Given the description of an element on the screen output the (x, y) to click on. 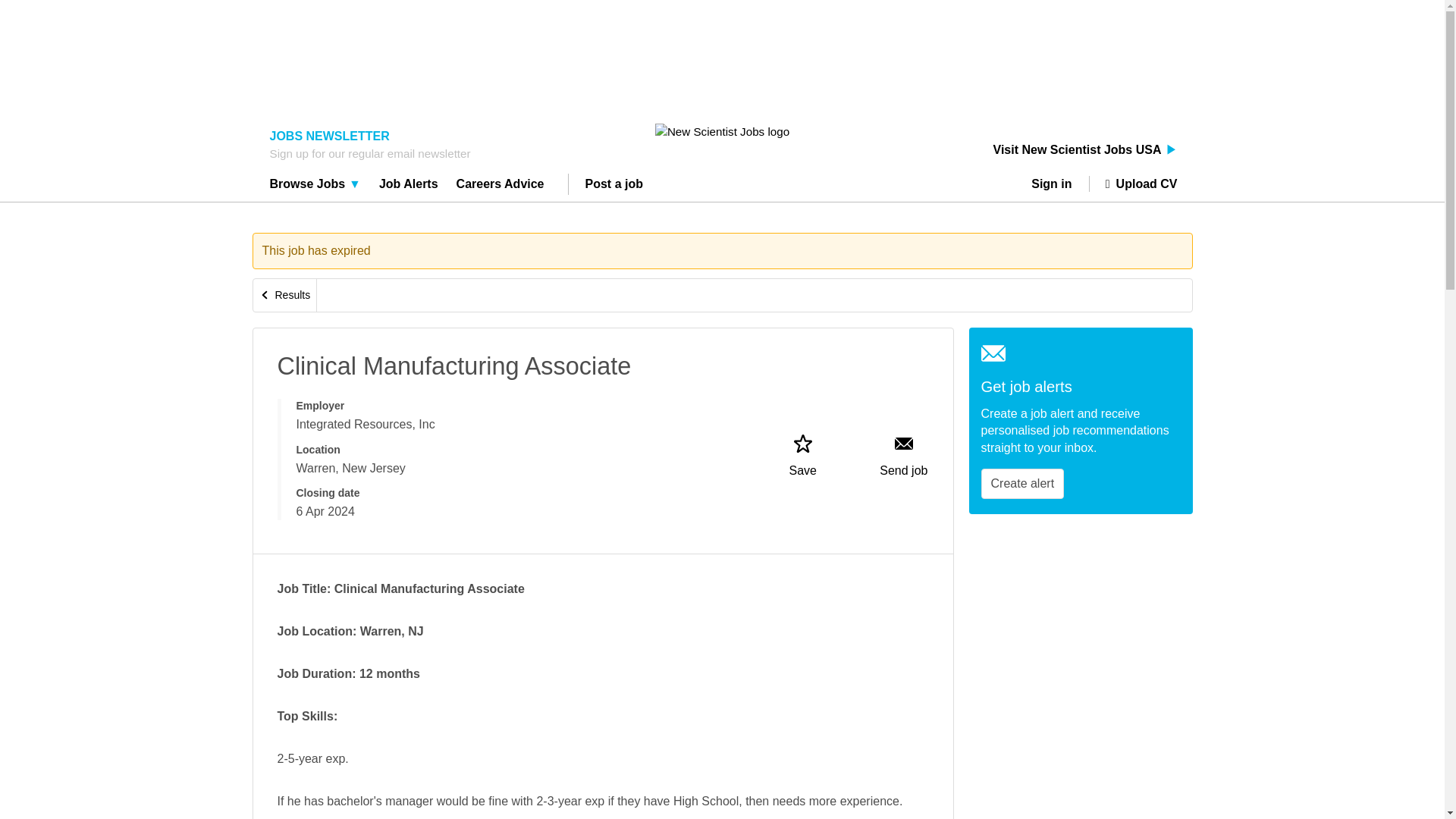
Sign in (1057, 183)
Visit New Scientist Jobs USA (1084, 149)
Upload CV (1133, 183)
Careers Advice (500, 186)
New Scientist Jobs (722, 131)
Job Alerts (409, 186)
Results (285, 295)
Post a job (614, 186)
